Given the description of an element on the screen output the (x, y) to click on. 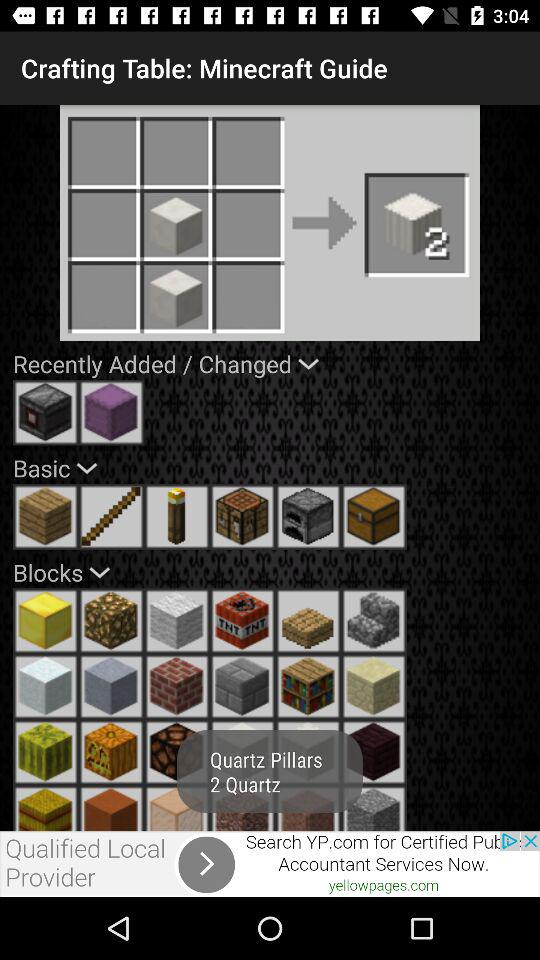
select the symbol (373, 752)
